Given the description of an element on the screen output the (x, y) to click on. 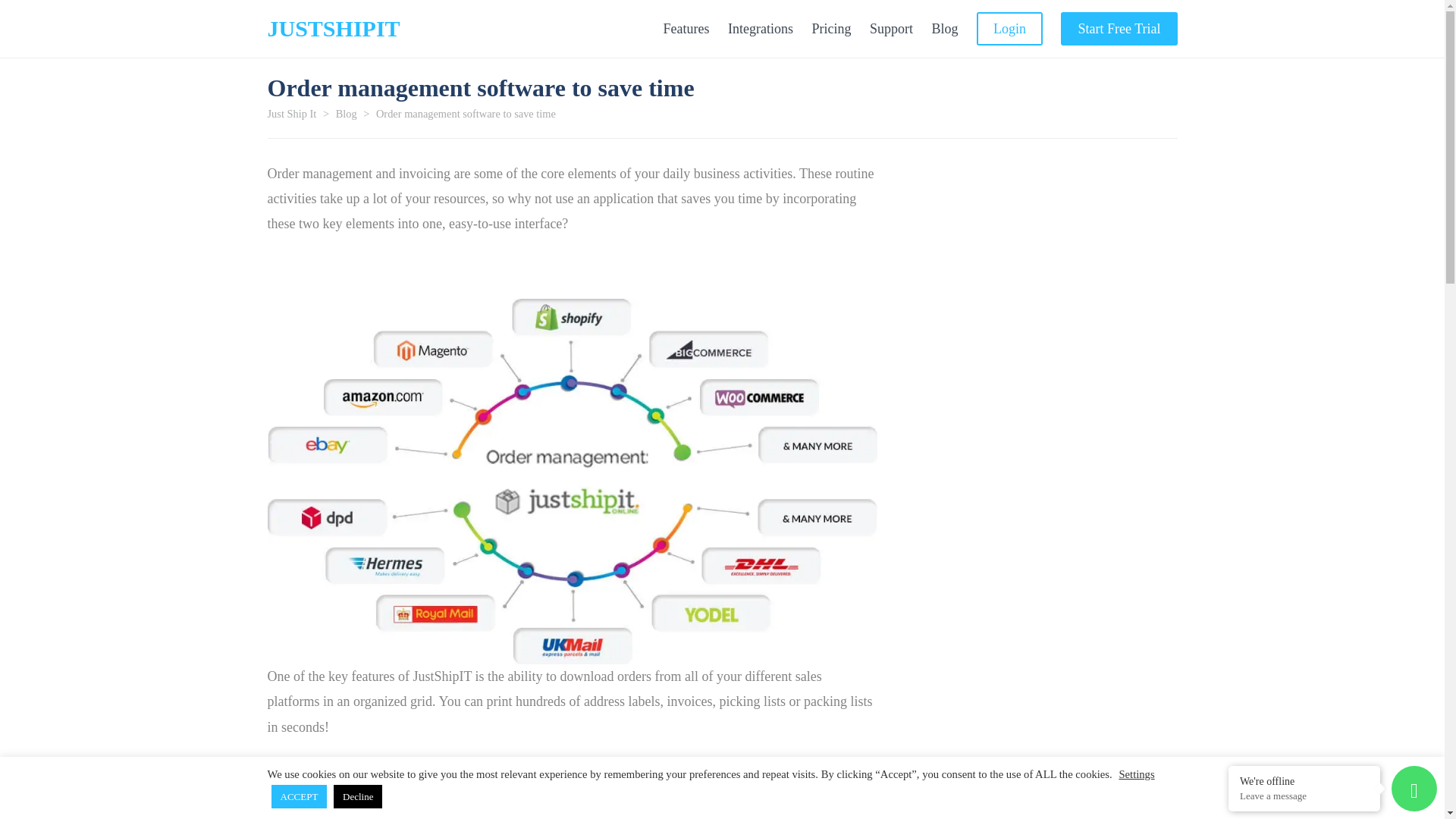
Just Ship It (290, 113)
Login (1009, 28)
We're offline (1304, 780)
eBay (842, 816)
Blog (346, 113)
Start Free Trial (1118, 28)
Order management software to save time (465, 113)
Leave a message (1304, 796)
Integrations (760, 28)
Features (685, 28)
Pricing (830, 28)
Support (890, 28)
JustShipIT (332, 28)
JUSTSHIPIT (332, 28)
